Given the description of an element on the screen output the (x, y) to click on. 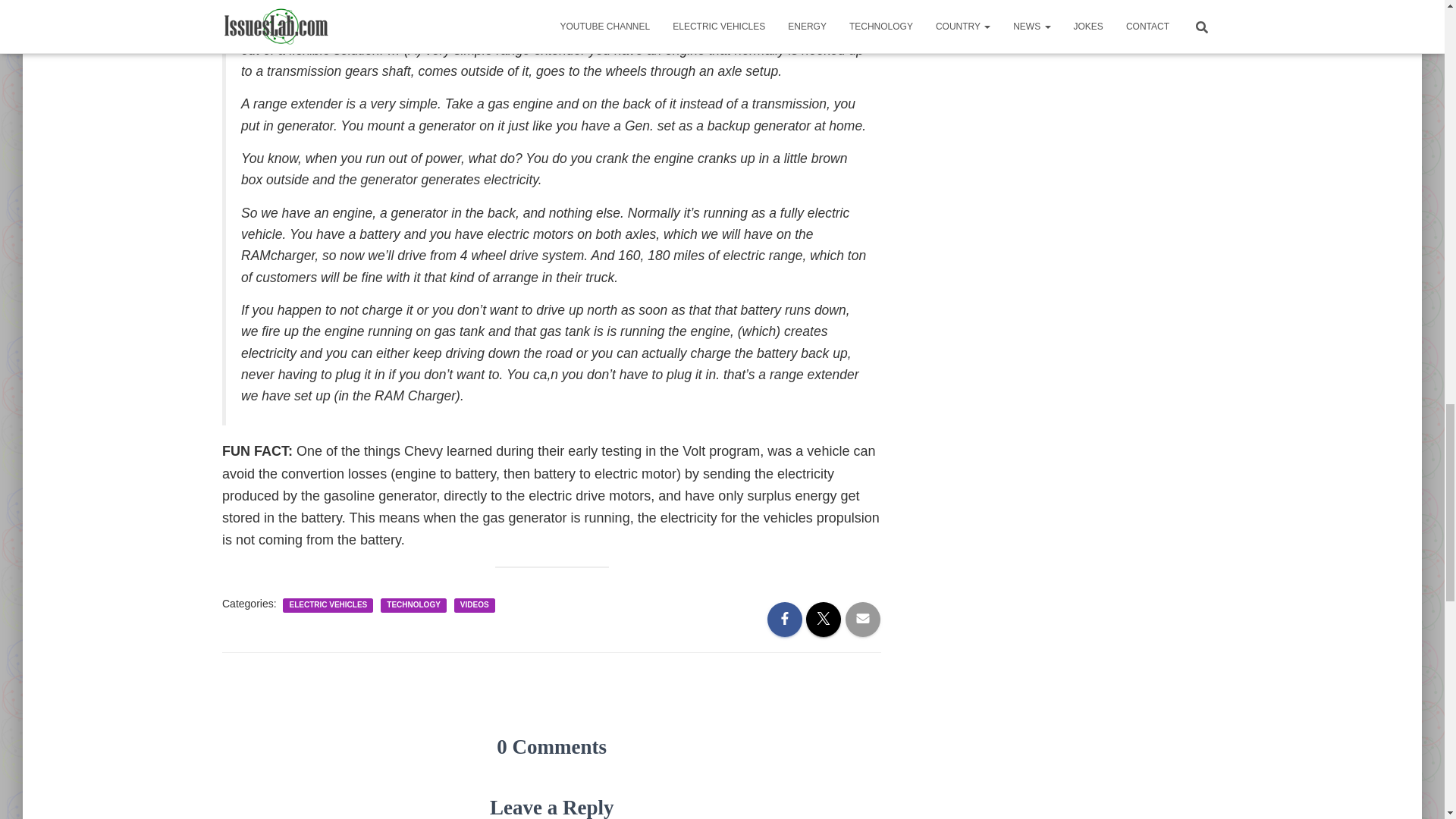
VIDEOS (474, 604)
ELECTRIC VEHICLES (327, 604)
TECHNOLOGY (413, 604)
